Given the description of an element on the screen output the (x, y) to click on. 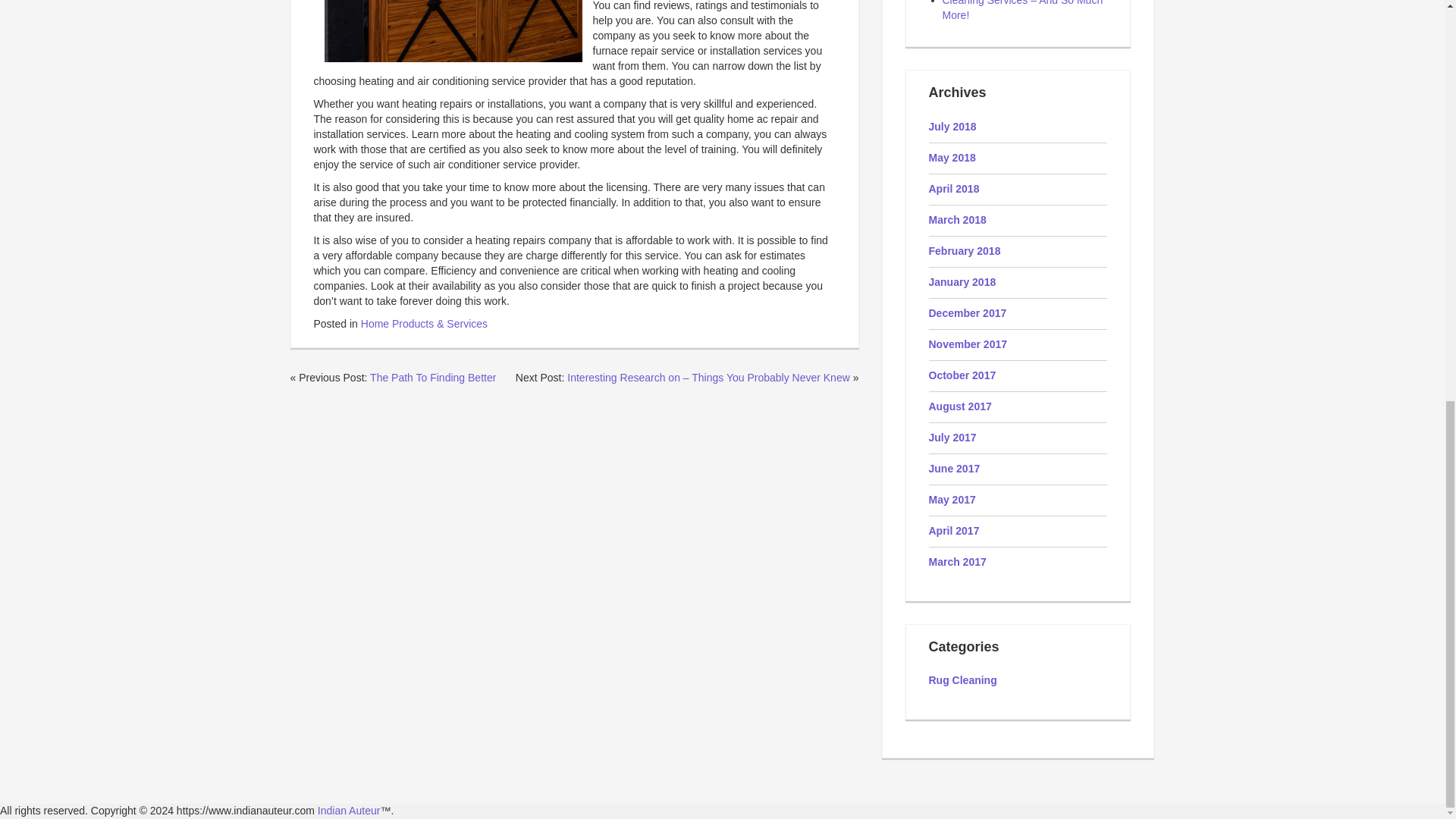
January 2018 (961, 282)
March 2017 (956, 562)
May 2018 (951, 157)
June 2017 (953, 468)
April 2017 (953, 530)
November 2017 (967, 344)
December 2017 (967, 313)
July 2018 (951, 126)
February 2018 (964, 250)
Rug Cleaning (961, 680)
